Given the description of an element on the screen output the (x, y) to click on. 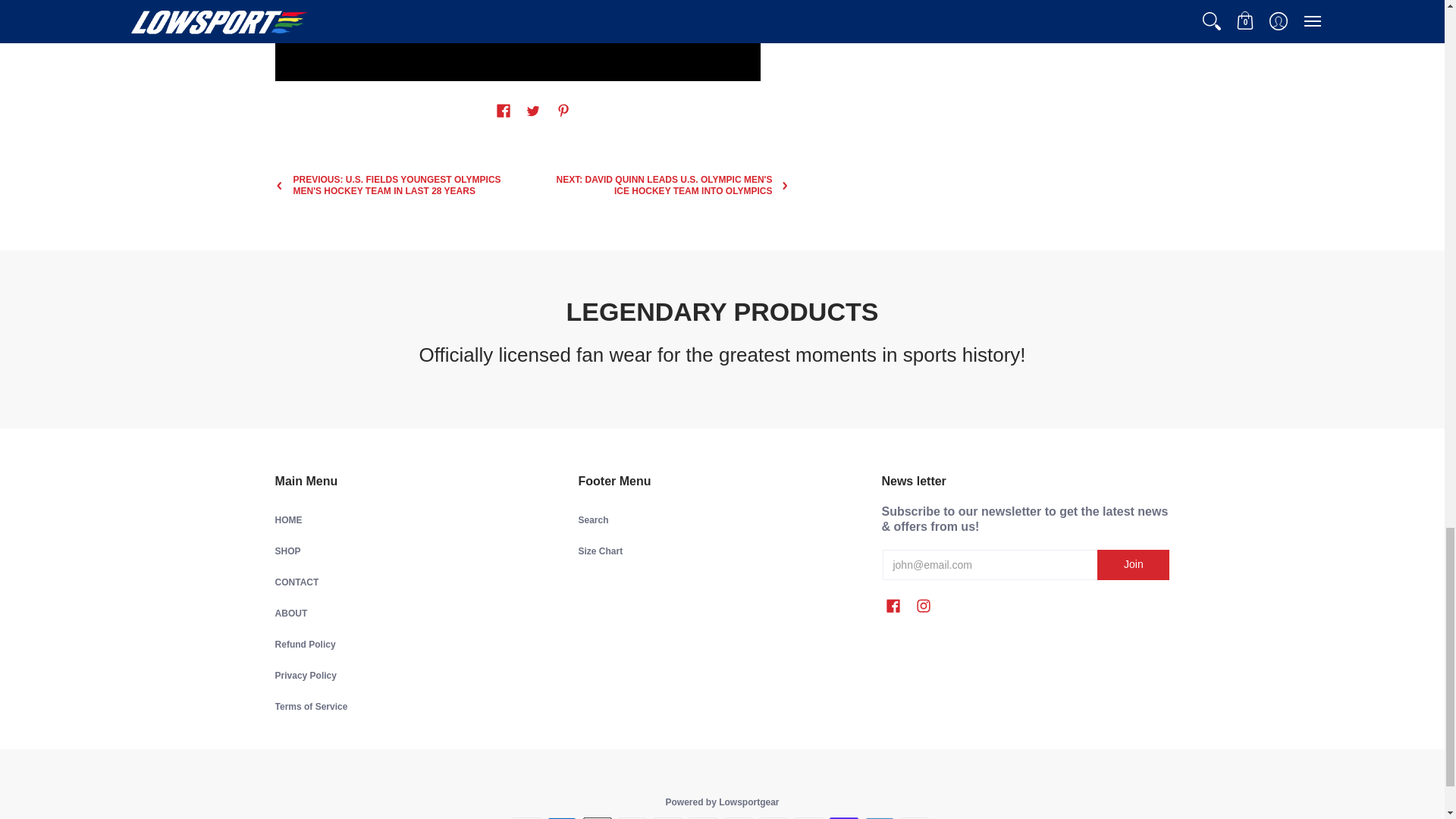
Amazon (526, 818)
Diners Club (631, 818)
Mastercard (772, 818)
PayPal (809, 818)
Discover (667, 818)
American Express (561, 818)
Apple Pay (597, 818)
Meta Pay (702, 818)
Join (1133, 564)
Google Pay (737, 818)
Shop Pay (844, 818)
